Given the description of an element on the screen output the (x, y) to click on. 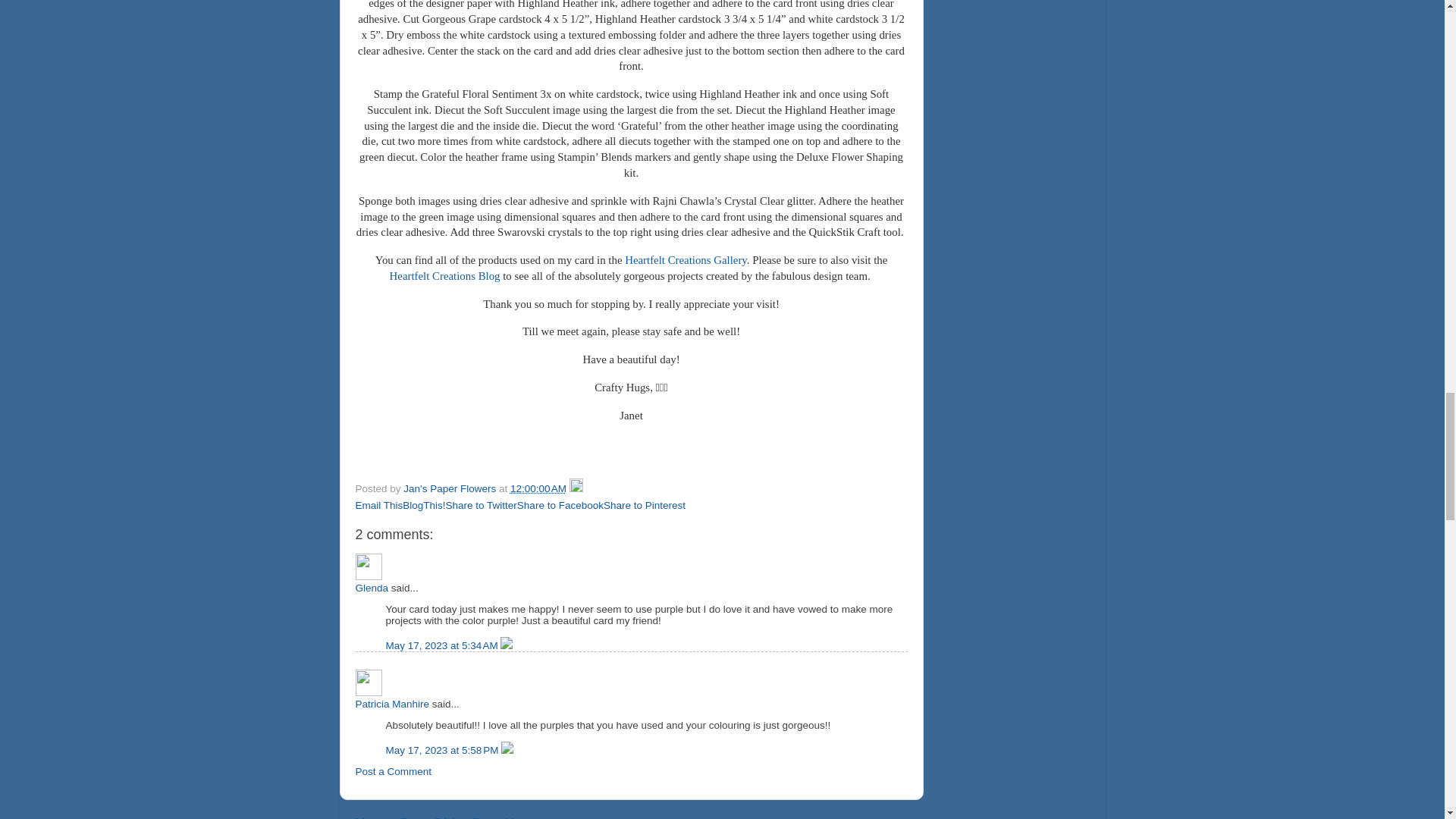
Share to Facebook (560, 505)
Post a Comment (392, 771)
Patricia Manhire (392, 704)
Home (522, 816)
Share to Facebook (560, 505)
Jan's Paper Flowers (451, 488)
BlogThis! (424, 505)
author profile (451, 488)
comment permalink (442, 645)
Email This (379, 505)
Delete Comment (506, 749)
Newer Post (392, 816)
Glenda (368, 566)
BlogThis! (424, 505)
